Given the description of an element on the screen output the (x, y) to click on. 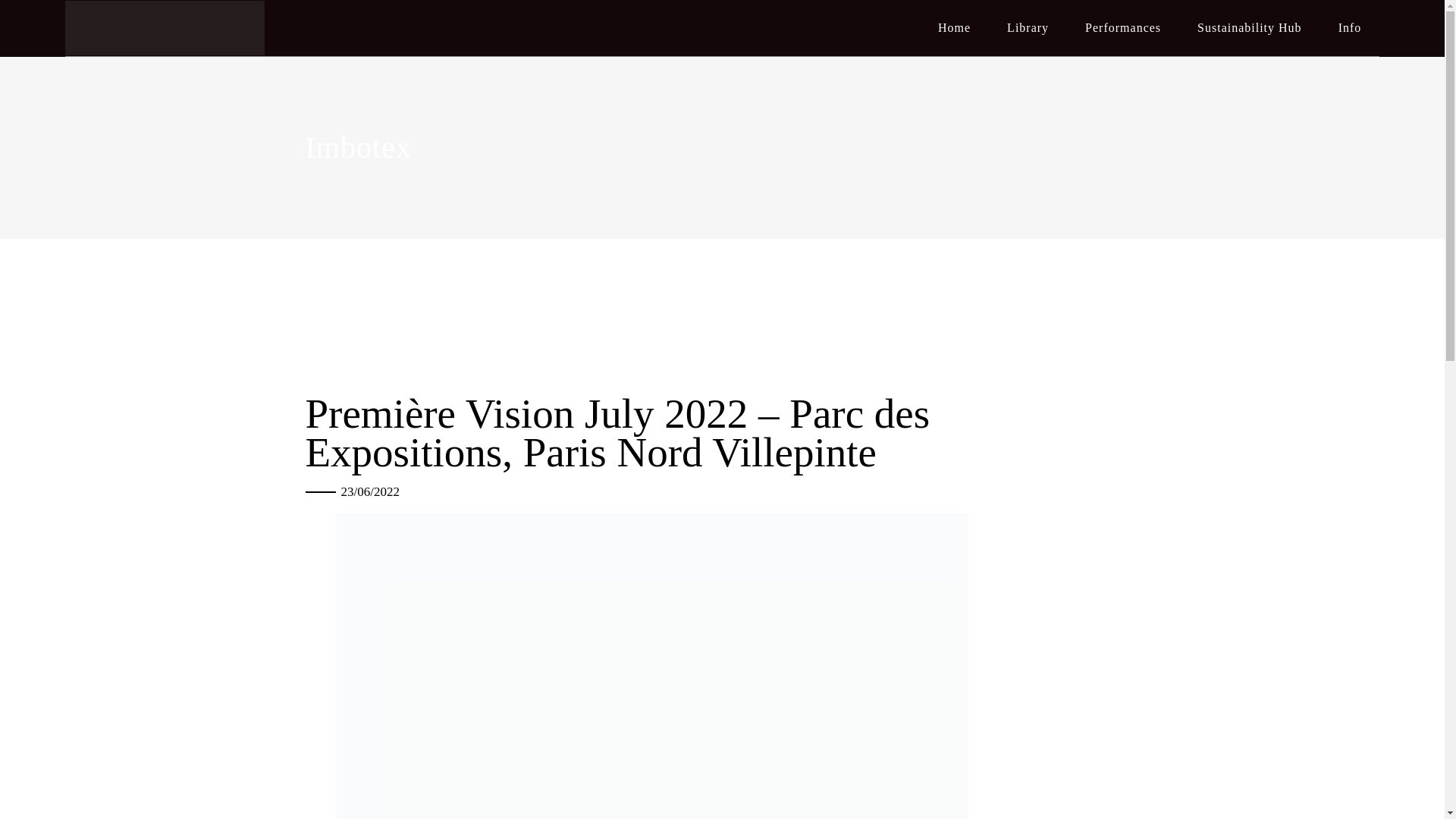
Info (1350, 28)
Library (1027, 28)
Sustainability Hub (1249, 28)
Home (954, 28)
Performances (1123, 28)
